Given the description of an element on the screen output the (x, y) to click on. 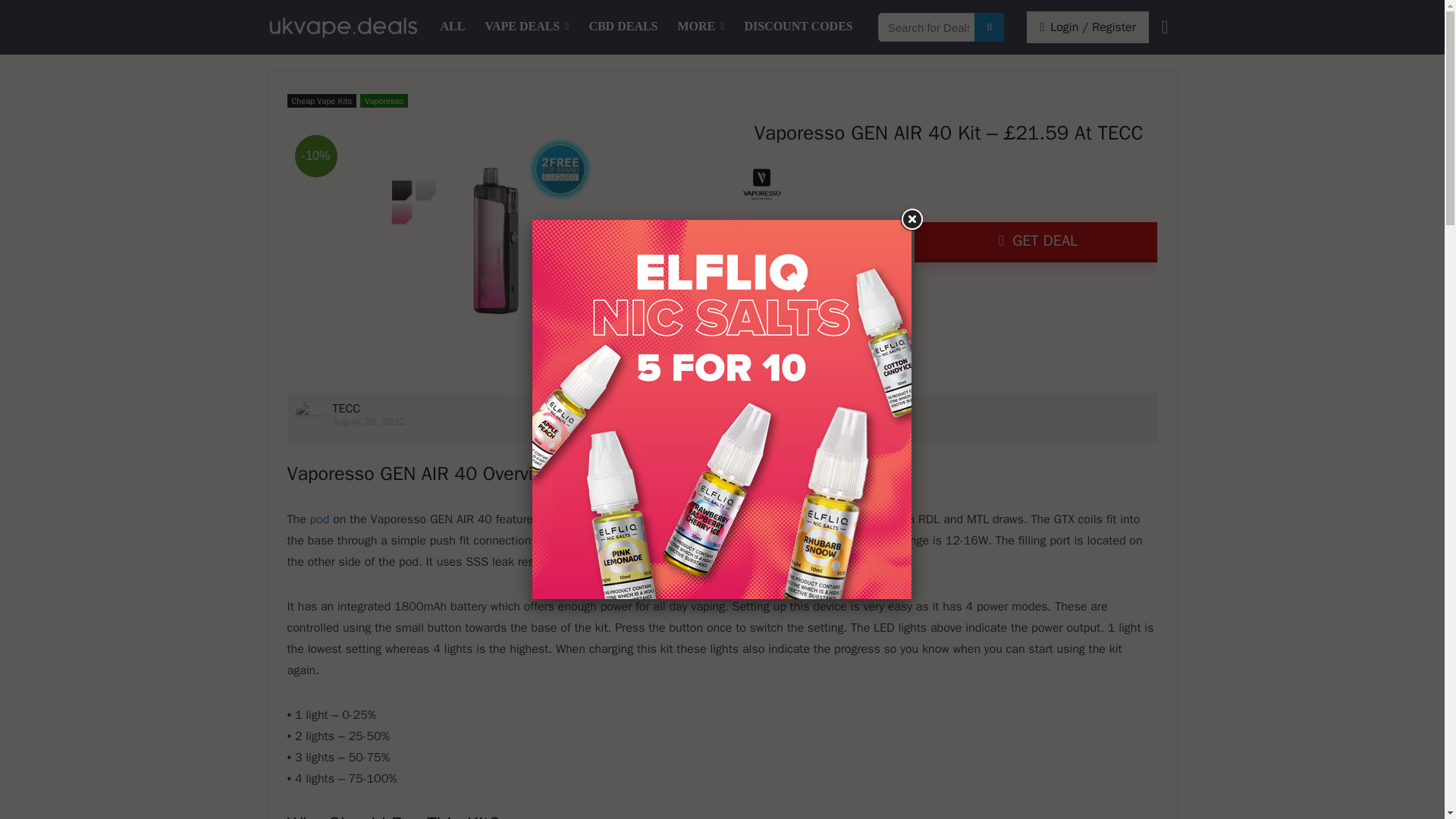
VAPE DEALS (526, 27)
GET DEAL (1035, 241)
Vaporesso GEN AIR 40 Pods x 2 (320, 519)
pod (320, 519)
MORE (701, 27)
DISCOUNT CODES (797, 27)
View all posts in Cheap Vape Kits (321, 100)
Vape Deals (526, 27)
CBD Deals UK (622, 27)
CBD DEALS (622, 27)
TECC (345, 408)
Cheap Vape Kits (321, 100)
UK Vape Deals  (453, 27)
ALL (453, 27)
View all posts in Vaporesso (383, 100)
